Given the description of an element on the screen output the (x, y) to click on. 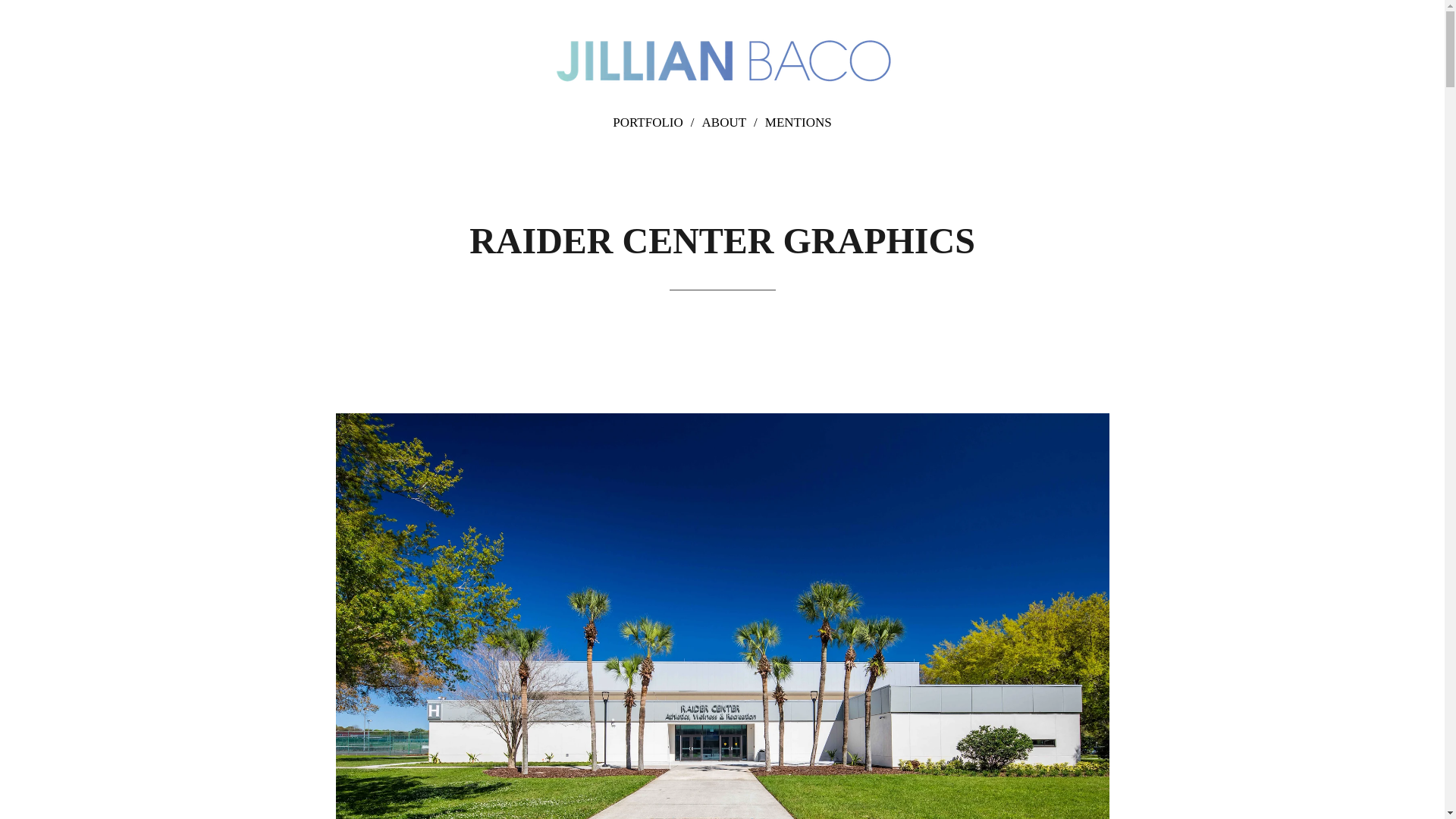
ABOUT (733, 122)
MENTIONS (798, 122)
PORTFOLIO (656, 122)
